Given the description of an element on the screen output the (x, y) to click on. 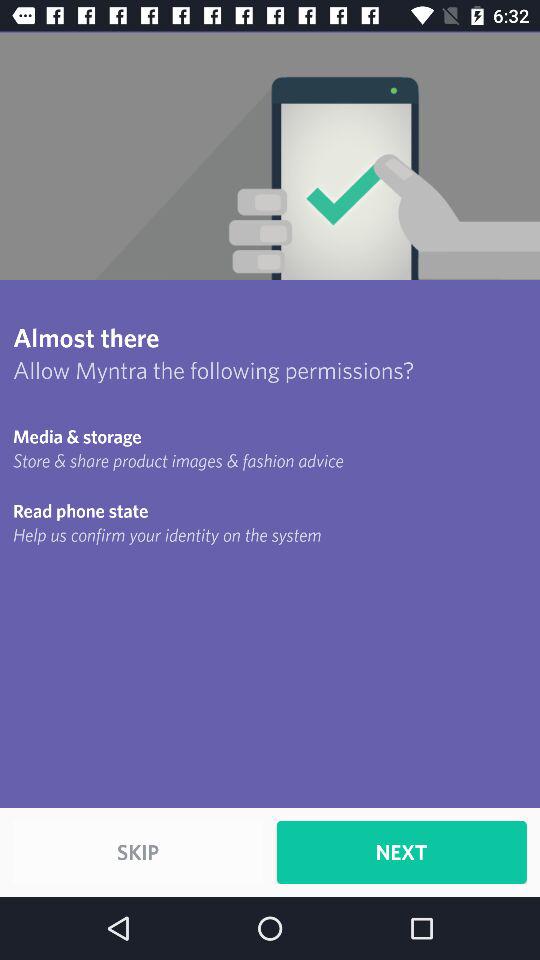
tap skip at the bottom left corner (138, 851)
